Given the description of an element on the screen output the (x, y) to click on. 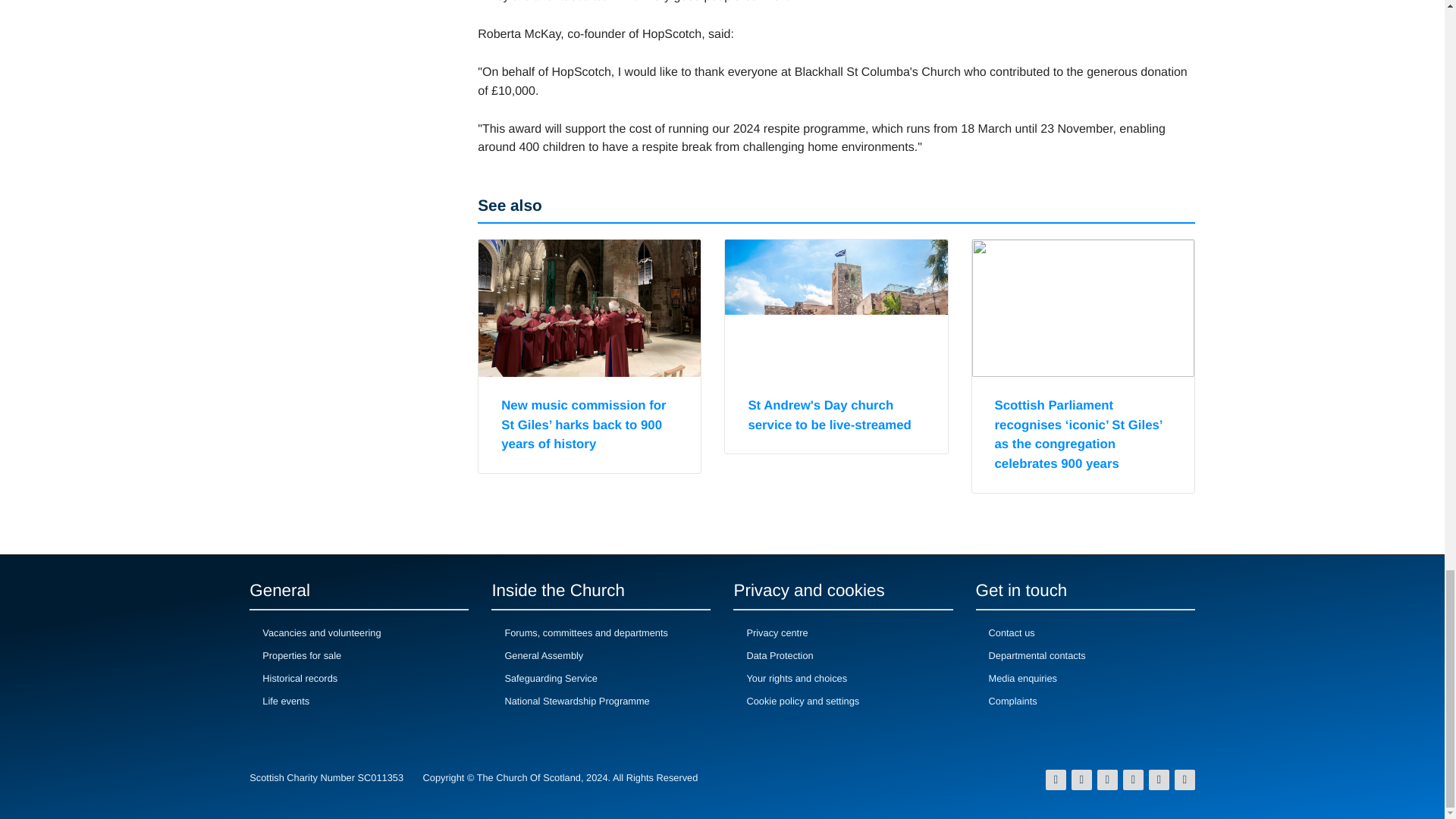
Church of Scotland YouTube (1132, 779)
Church of Scotland Instagram (1107, 779)
Church of Scotland on Linkedin (1184, 779)
Forums, committees and departments (585, 633)
Church of Scotland Facebook (1055, 779)
Church of Scotland Twitter (1081, 779)
Vacancies and volunteering (321, 633)
St Andrew's Day church service to be live-streamed (829, 415)
Life events (285, 701)
Properties for sale (301, 656)
